Given the description of an element on the screen output the (x, y) to click on. 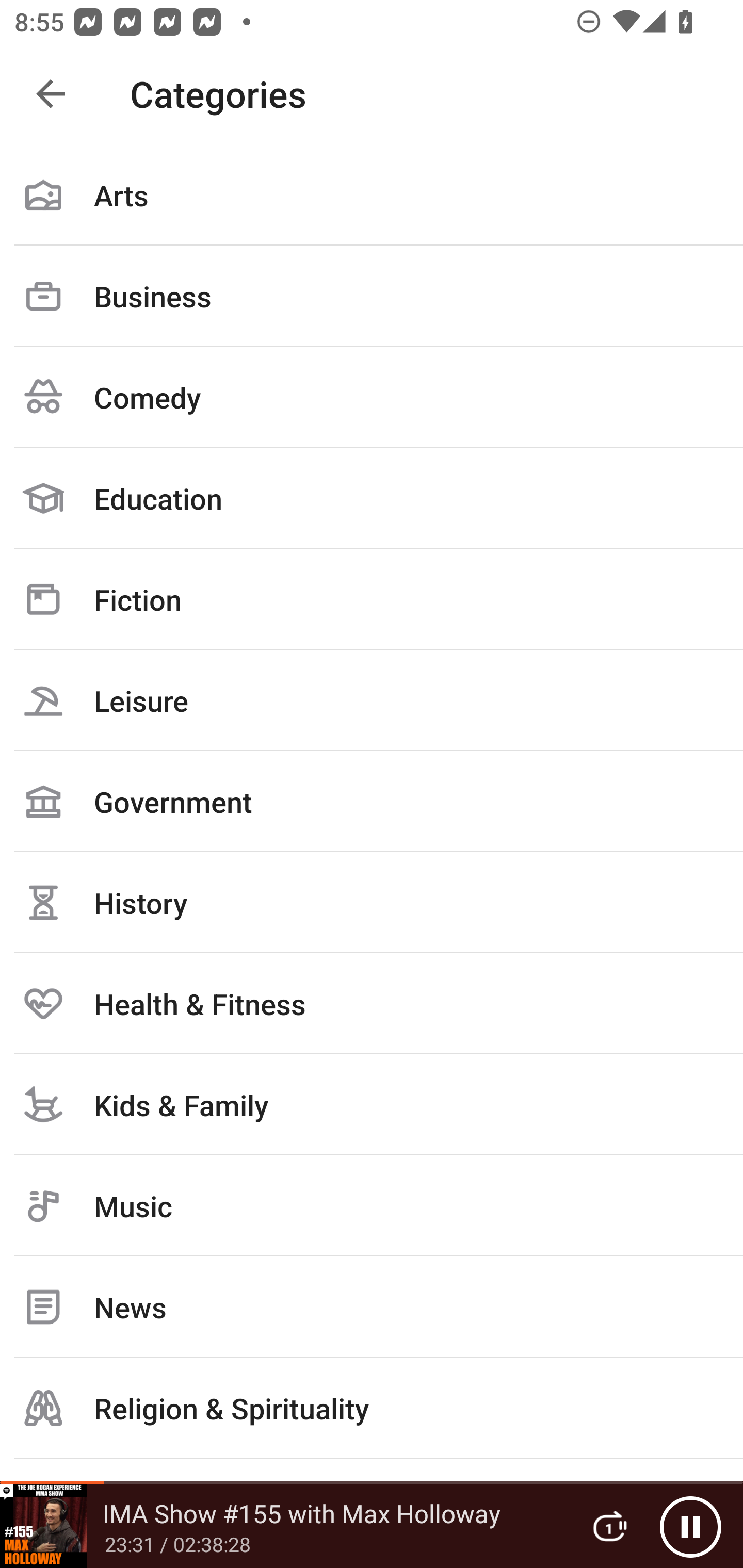
Navigate up (50, 93)
Arts (371, 195)
Business (371, 296)
Comedy (371, 397)
Education (371, 498)
Fiction (371, 598)
Leisure (371, 700)
Government (371, 801)
History (371, 902)
Health & Fitness (371, 1003)
Kids & Family (371, 1104)
Music (371, 1205)
News (371, 1306)
Religion & Spirituality (371, 1407)
Pause (690, 1526)
